Given the description of an element on the screen output the (x, y) to click on. 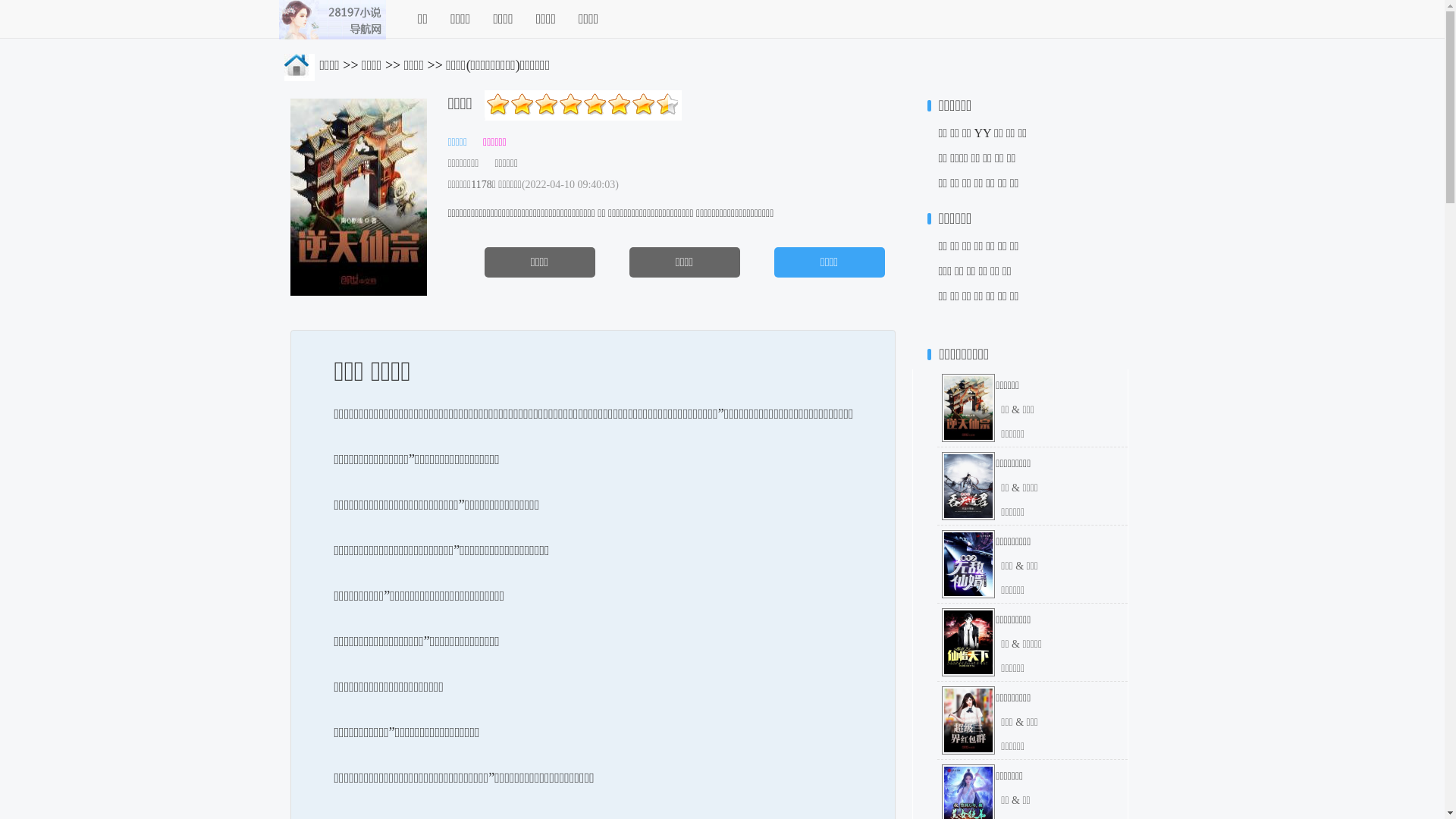
YY Element type: text (982, 132)
